Given the description of an element on the screen output the (x, y) to click on. 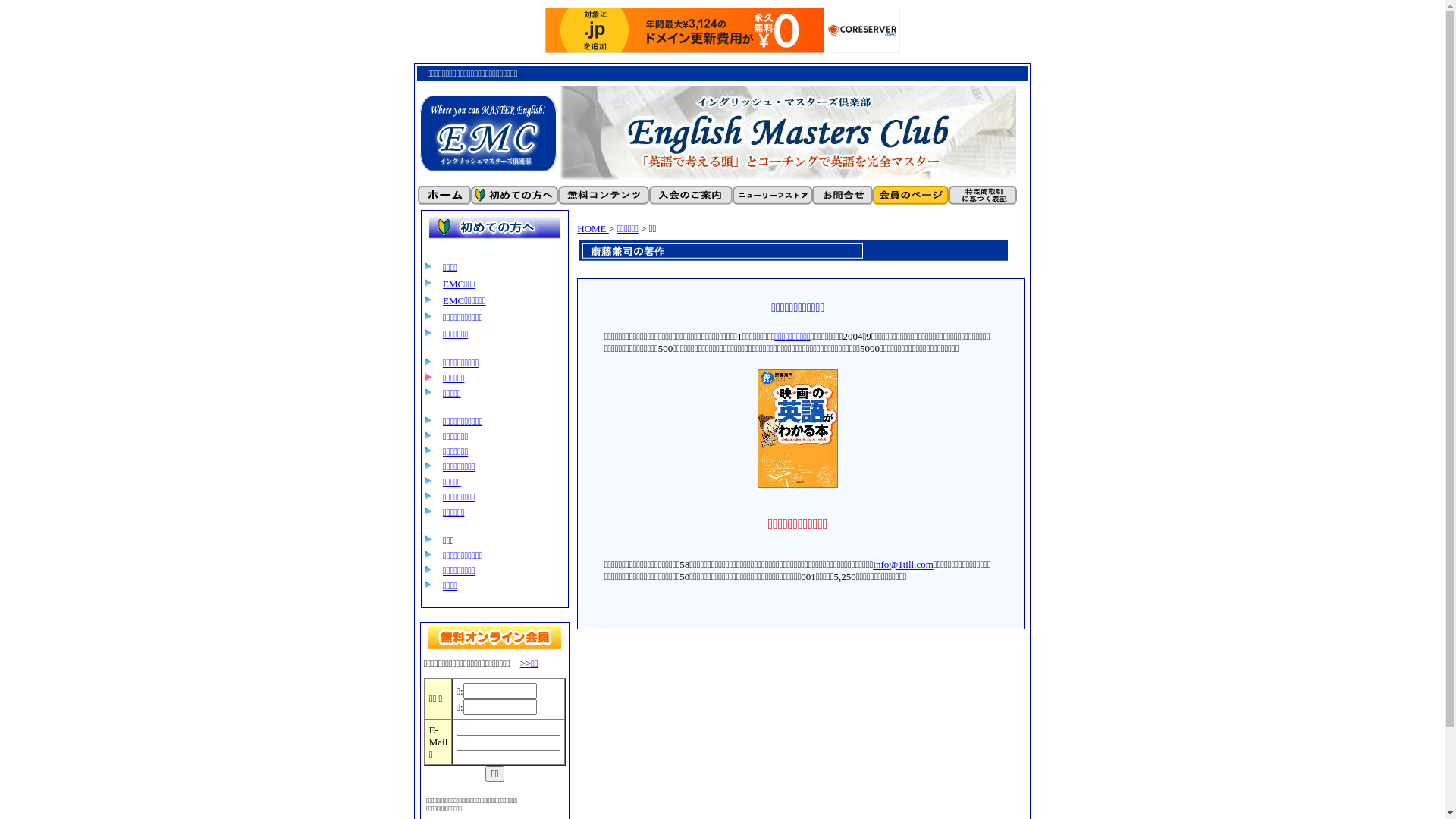
HOME Element type: text (592, 228)
info@1till.com Element type: text (902, 564)
